Given the description of an element on the screen output the (x, y) to click on. 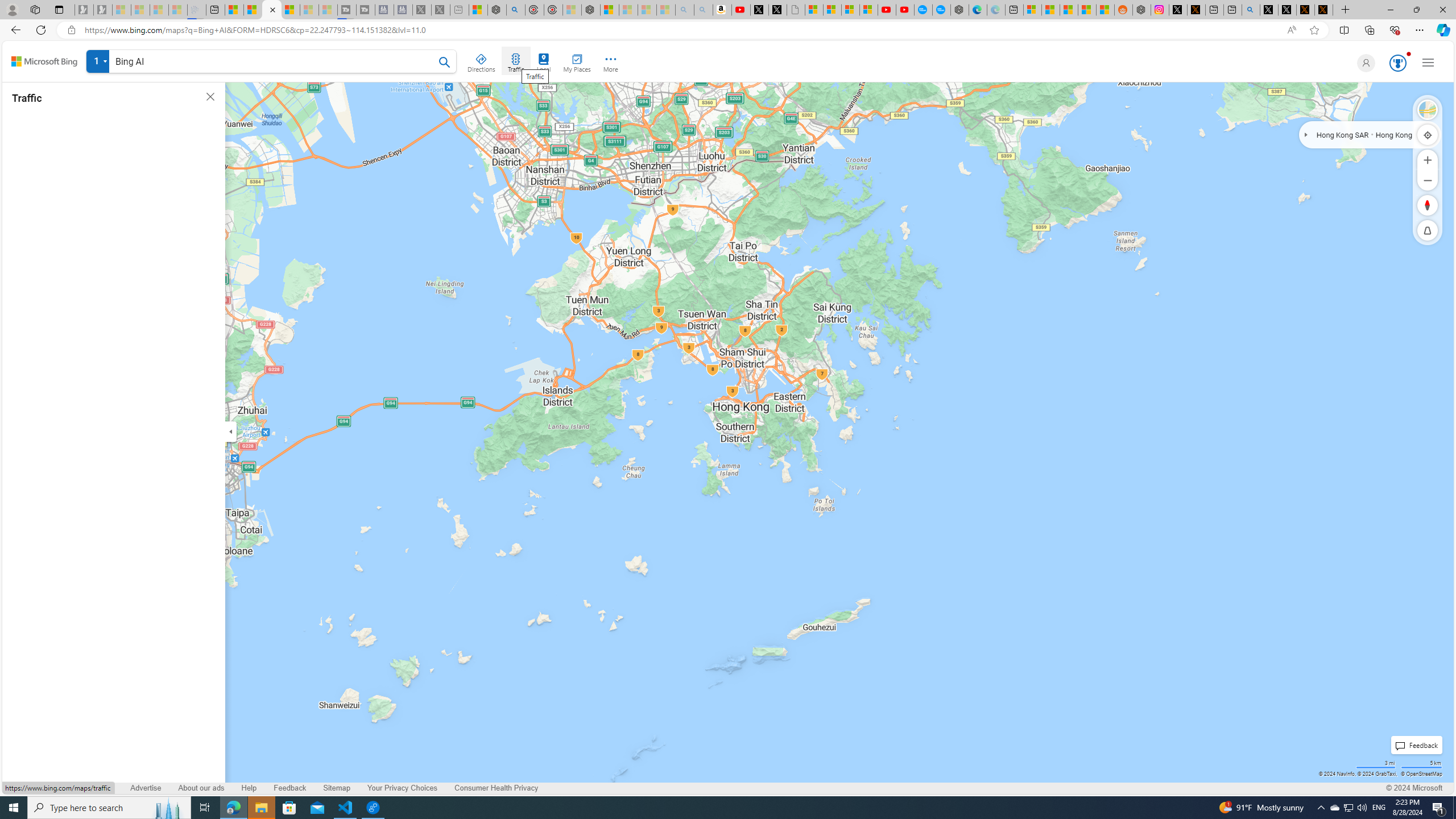
Your Privacy Choices (402, 787)
X - Sleeping (440, 9)
help.x.com | 524: A timeout occurred (1195, 9)
More (610, 60)
Microsoft account | Microsoft Account Privacy Settings (1032, 9)
Profile / X (1268, 9)
Expand/Collapse Geochain (1305, 134)
Zoom Out (1427, 180)
Feedback (289, 787)
